Given the description of an element on the screen output the (x, y) to click on. 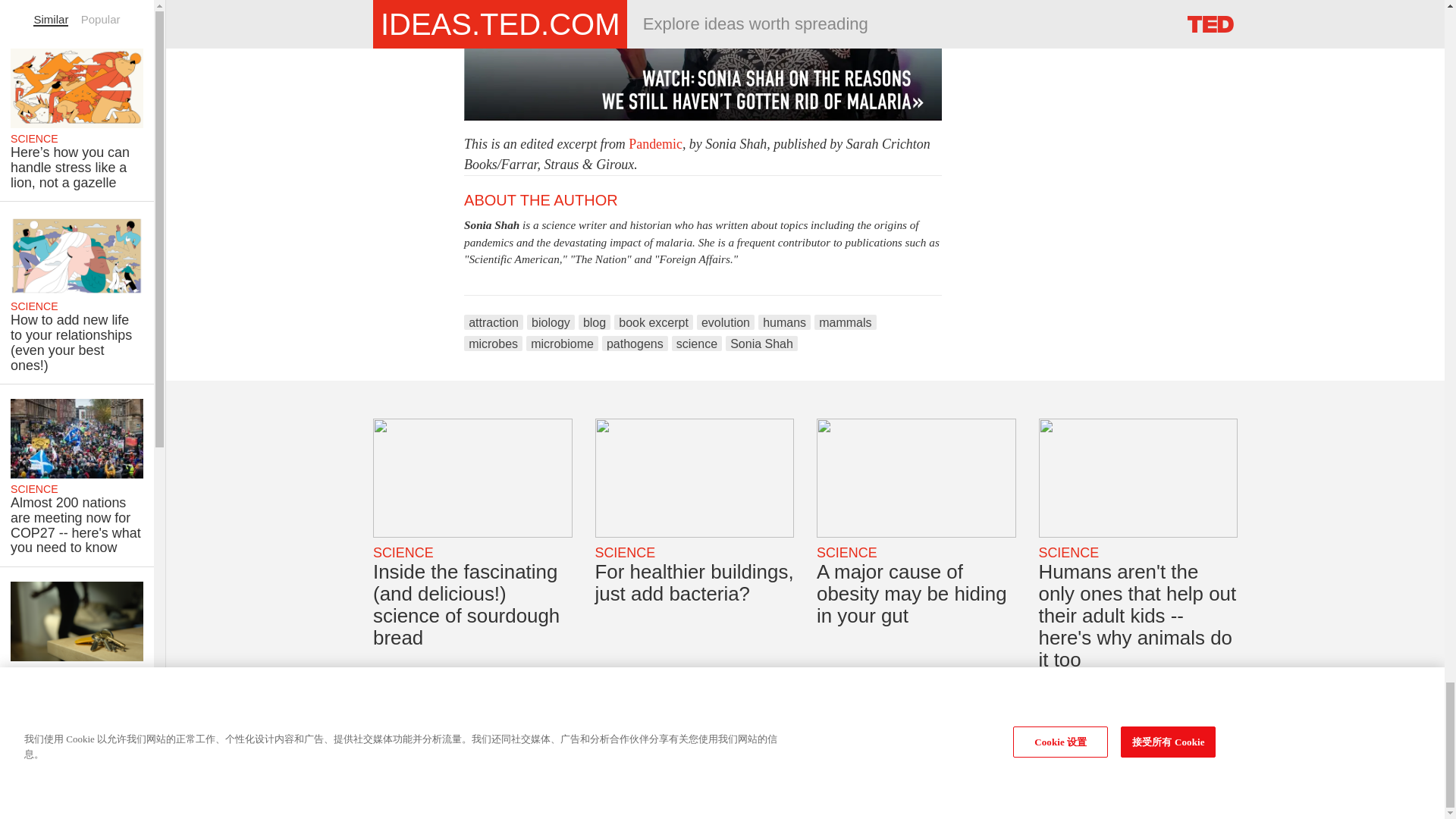
Sonia Shah (491, 224)
book excerpt (653, 322)
attraction (493, 322)
Pandemic (655, 143)
evolution (725, 322)
biology (551, 322)
blog (594, 322)
